Given the description of an element on the screen output the (x, y) to click on. 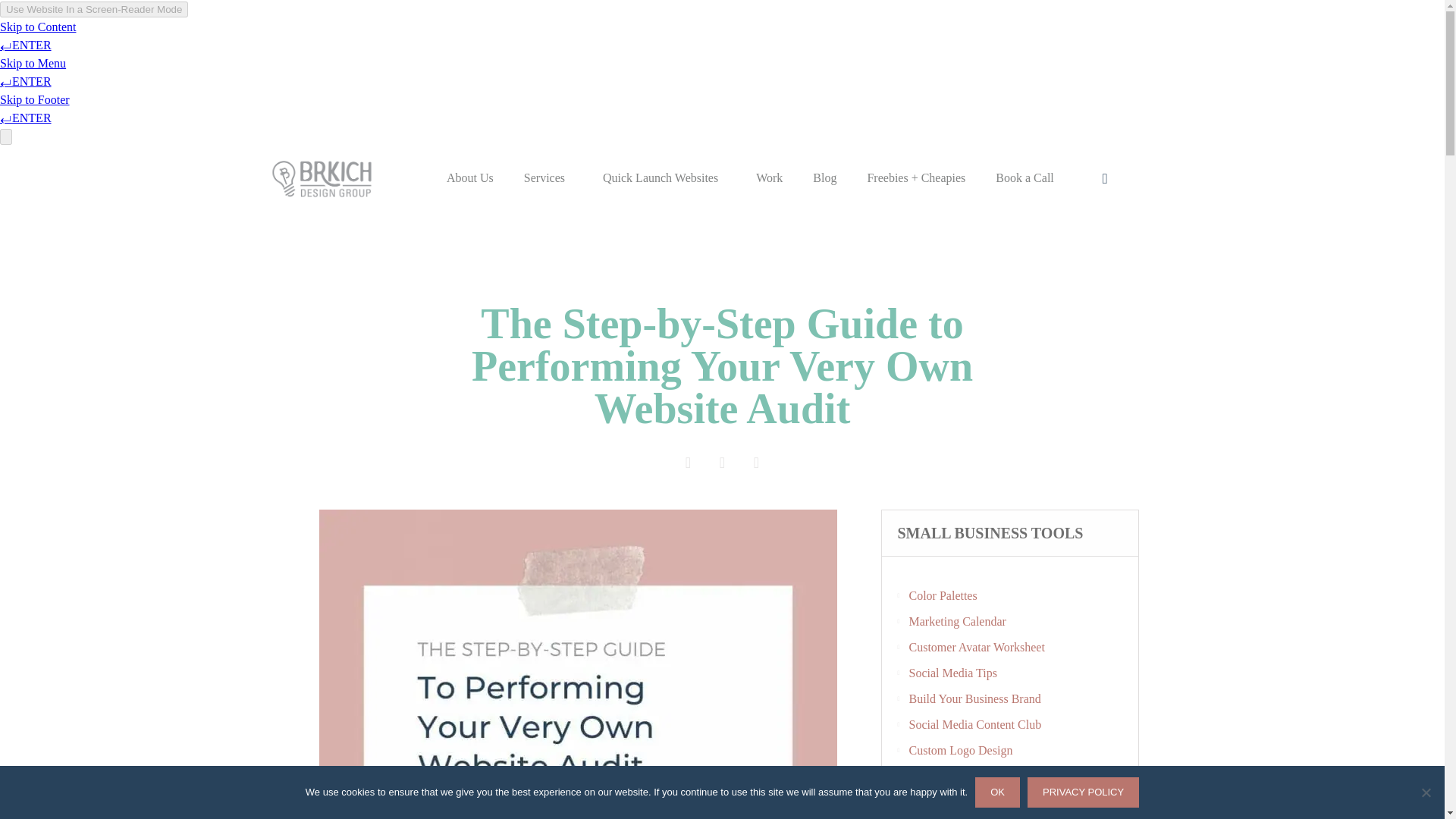
Quick Launch Websites (664, 177)
Book a Call (1023, 177)
Blog (824, 177)
Work (769, 177)
Services (548, 177)
About Us (469, 177)
No (1425, 792)
